Given the description of an element on the screen output the (x, y) to click on. 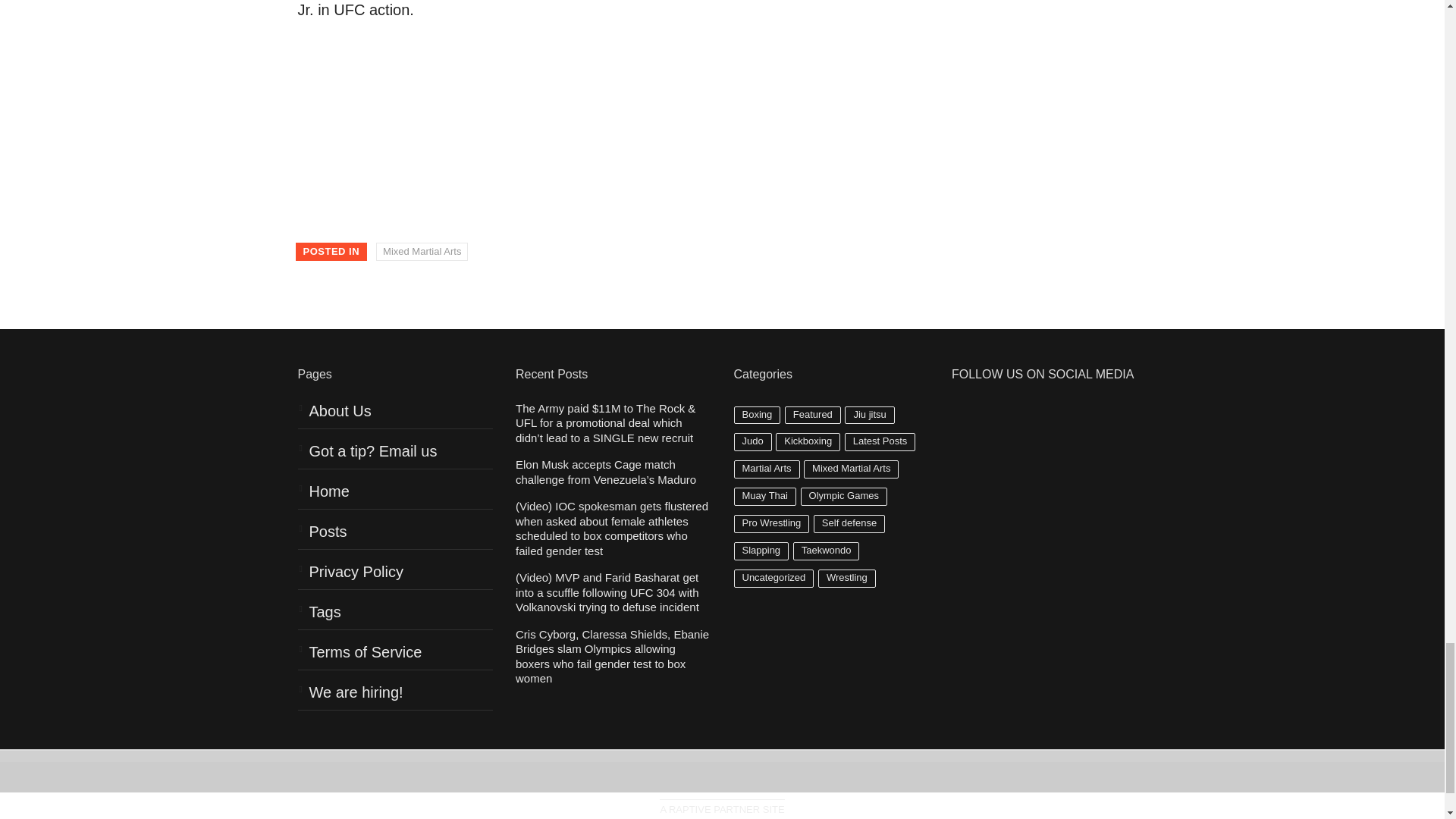
Mixed Martial Arts (421, 251)
